Given the description of an element on the screen output the (x, y) to click on. 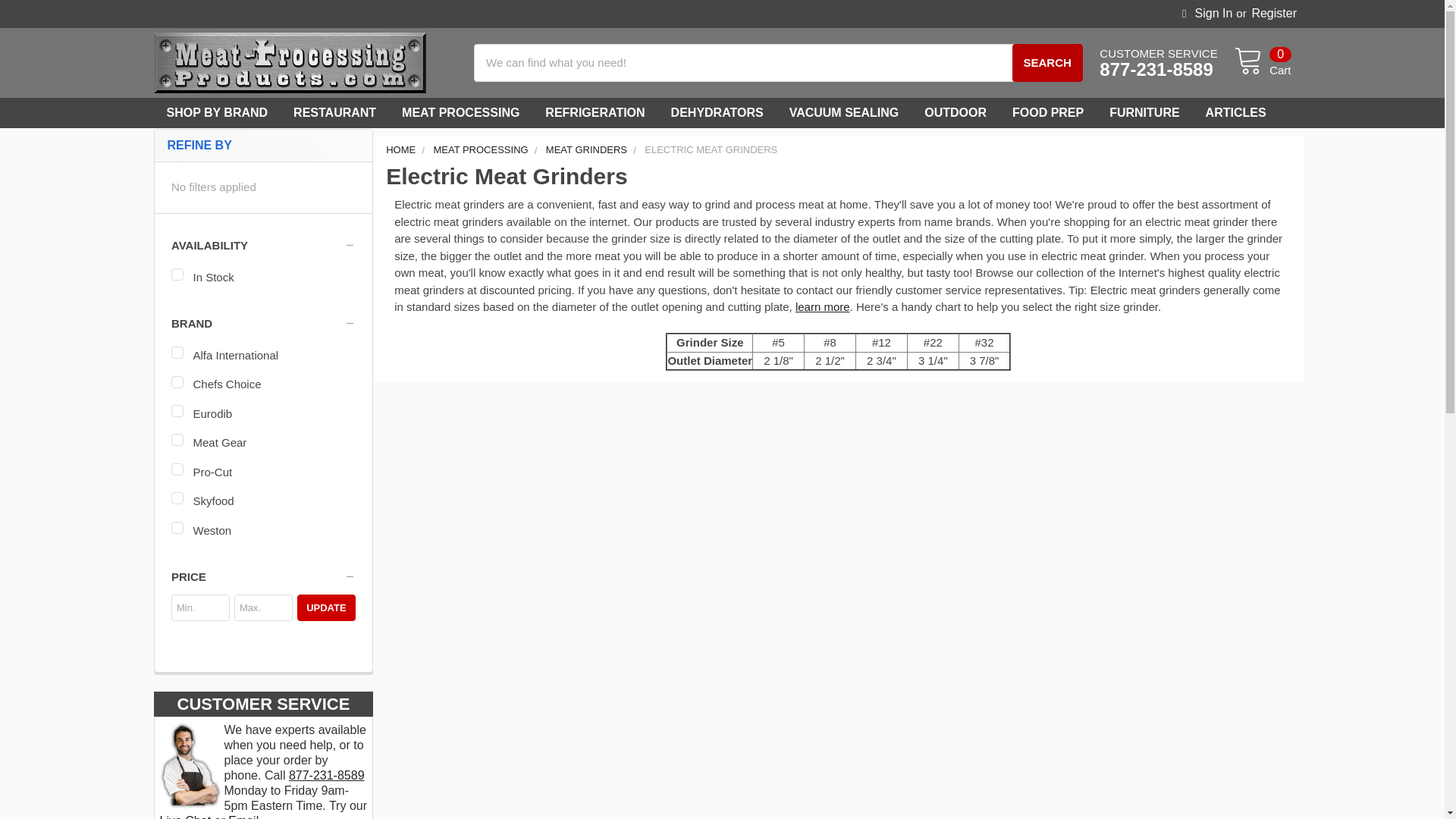
RESTAURANT (334, 112)
DEHYDRATORS (717, 112)
Weston (263, 530)
OUTDOOR (954, 112)
Sign In (1206, 13)
UPDATE (326, 607)
Meat Grinder FAQs (822, 306)
MEAT PROCESSING (460, 112)
Search (1046, 62)
Pro-Cut (263, 472)
Alfa International (263, 355)
Eurodib (263, 414)
Search (1046, 62)
Search (1166, 52)
